Given the description of an element on the screen output the (x, y) to click on. 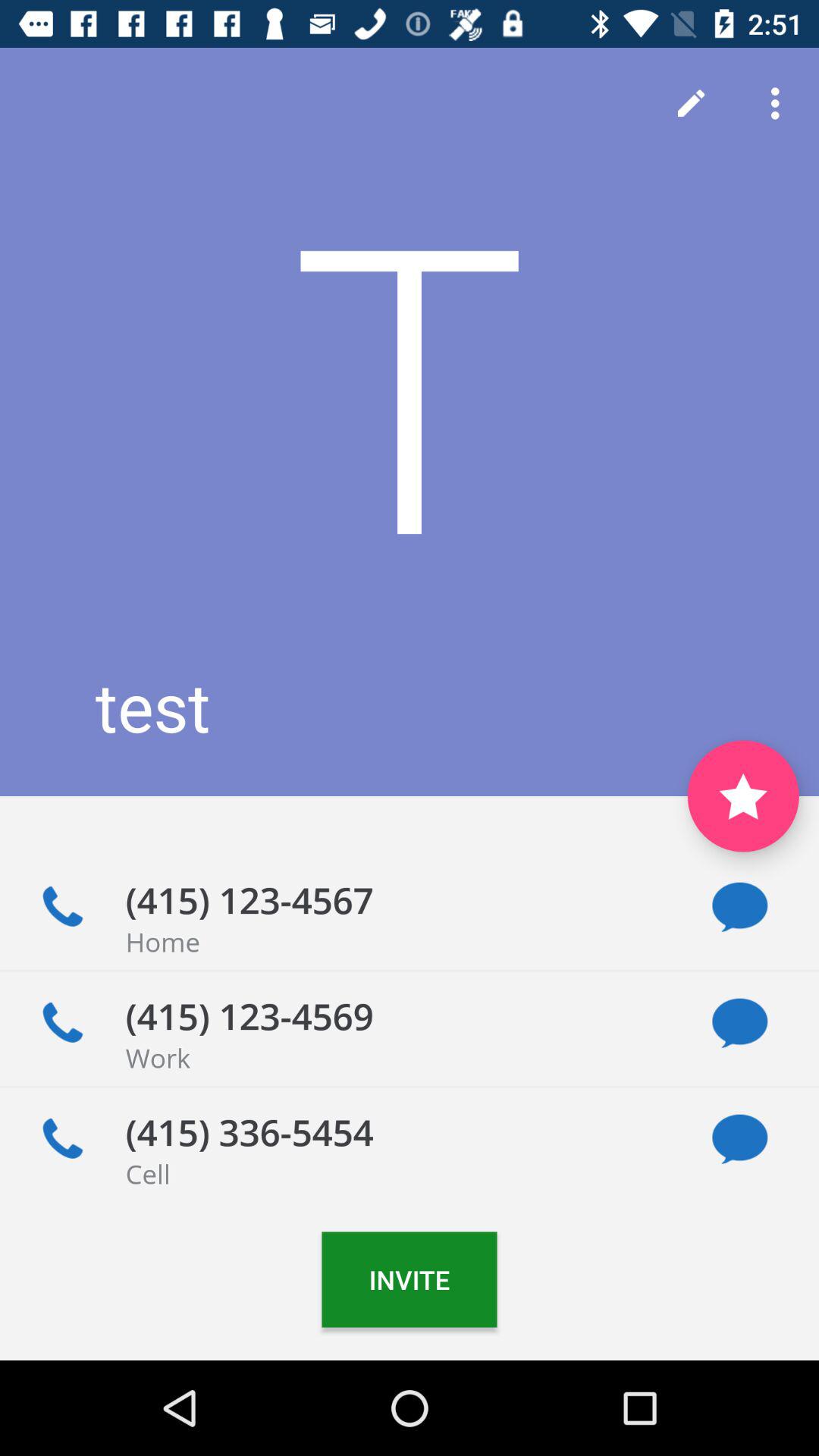
add to favorites (743, 795)
